Given the description of an element on the screen output the (x, y) to click on. 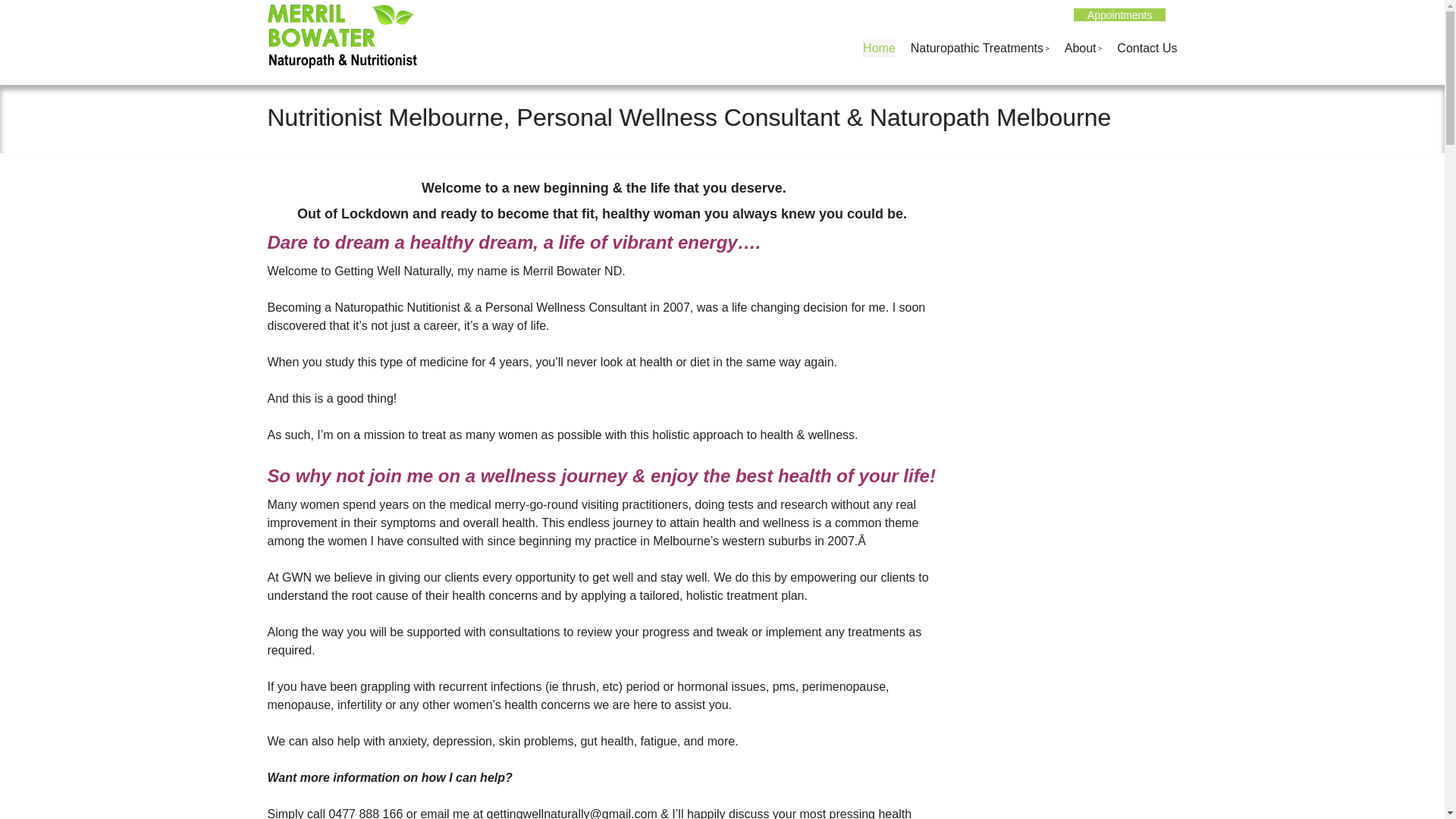
Naturopathic Treatments Element type: text (979, 48)
About Element type: text (1083, 48)
Appointments Element type: text (1119, 14)
Contact Us Element type: text (1146, 48)
Home Element type: text (878, 48)
Skip to content Element type: text (887, 48)
